Given the description of an element on the screen output the (x, y) to click on. 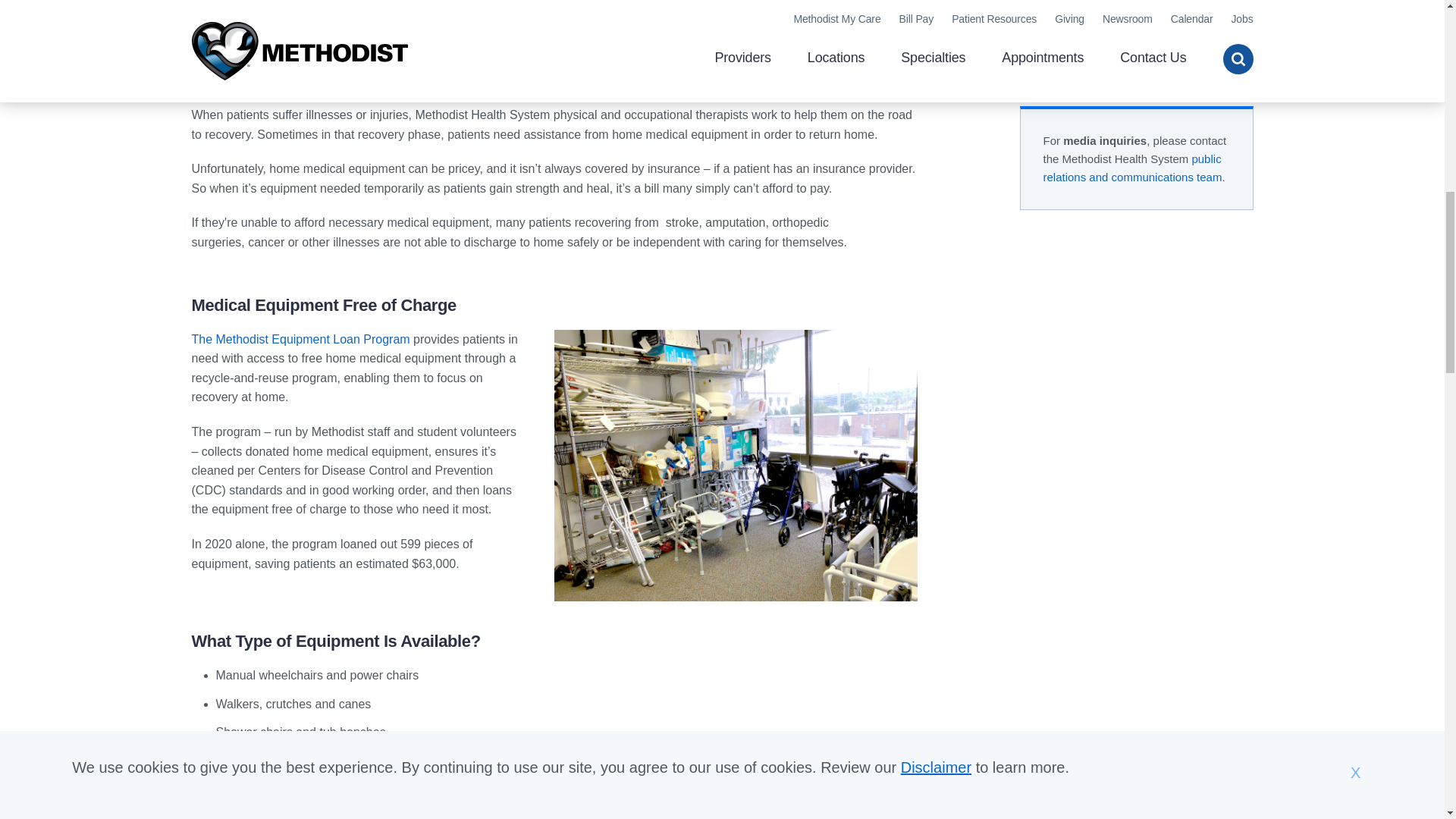
The Methodist Equipment Loan Program (299, 338)
Today's Medicine (1088, 13)
public relations and communications team (1133, 167)
Methodist Health System media inquiry (1133, 167)
Women's Health (1085, 41)
